Given the description of an element on the screen output the (x, y) to click on. 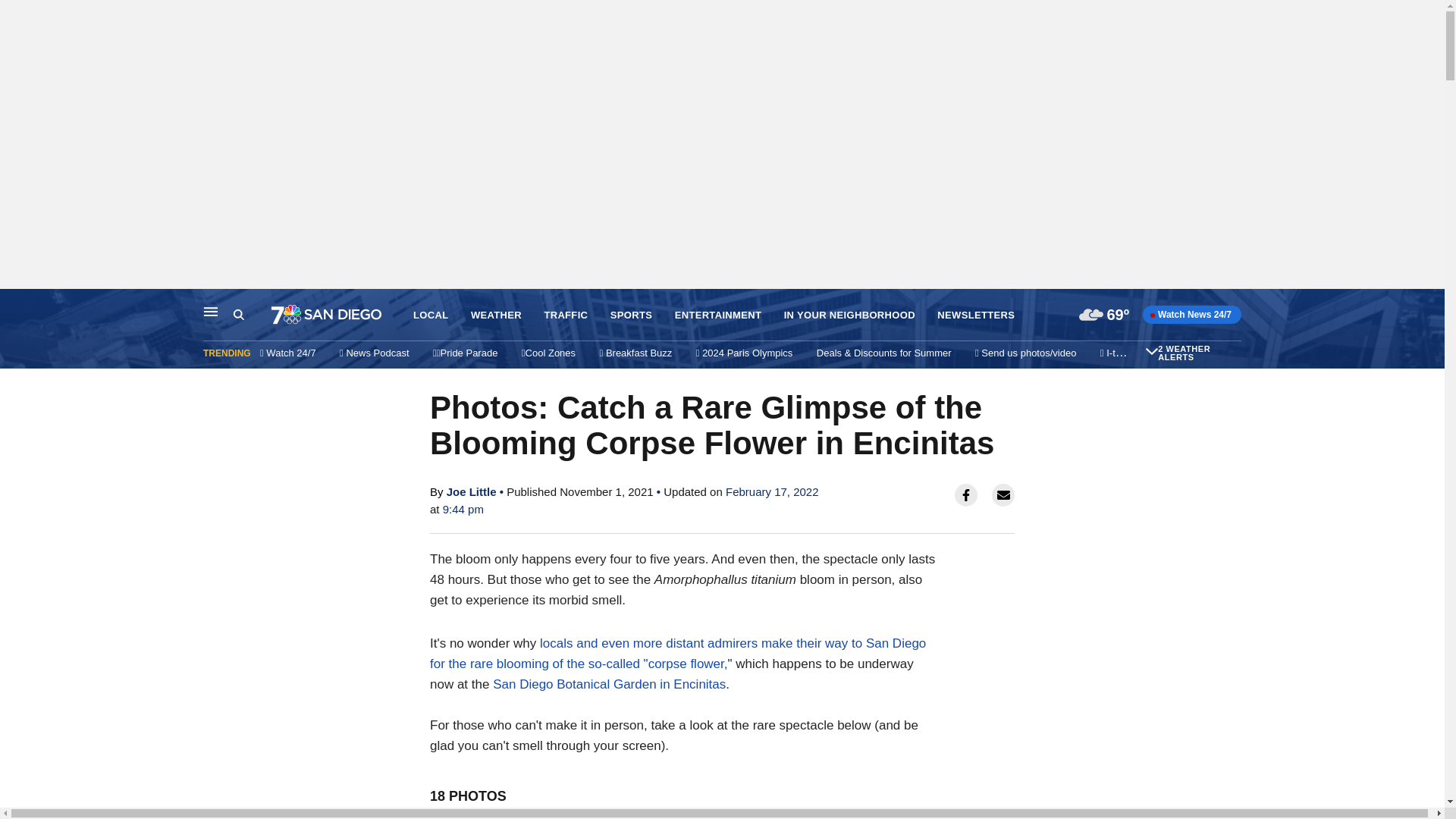
Main Navigation (210, 311)
Search (238, 314)
Skip to content (16, 304)
2 WEATHER ALERTS (1197, 352)
TRAFFIC (565, 315)
LOCAL (430, 315)
Joe Little (471, 491)
IN YOUR NEIGHBORHOOD (849, 315)
San Diego Botanical Garden in Encinitas (609, 684)
ENTERTAINMENT (718, 315)
WEATHER (495, 315)
SPORTS (631, 315)
Search (252, 314)
Expand (1151, 350)
